Given the description of an element on the screen output the (x, y) to click on. 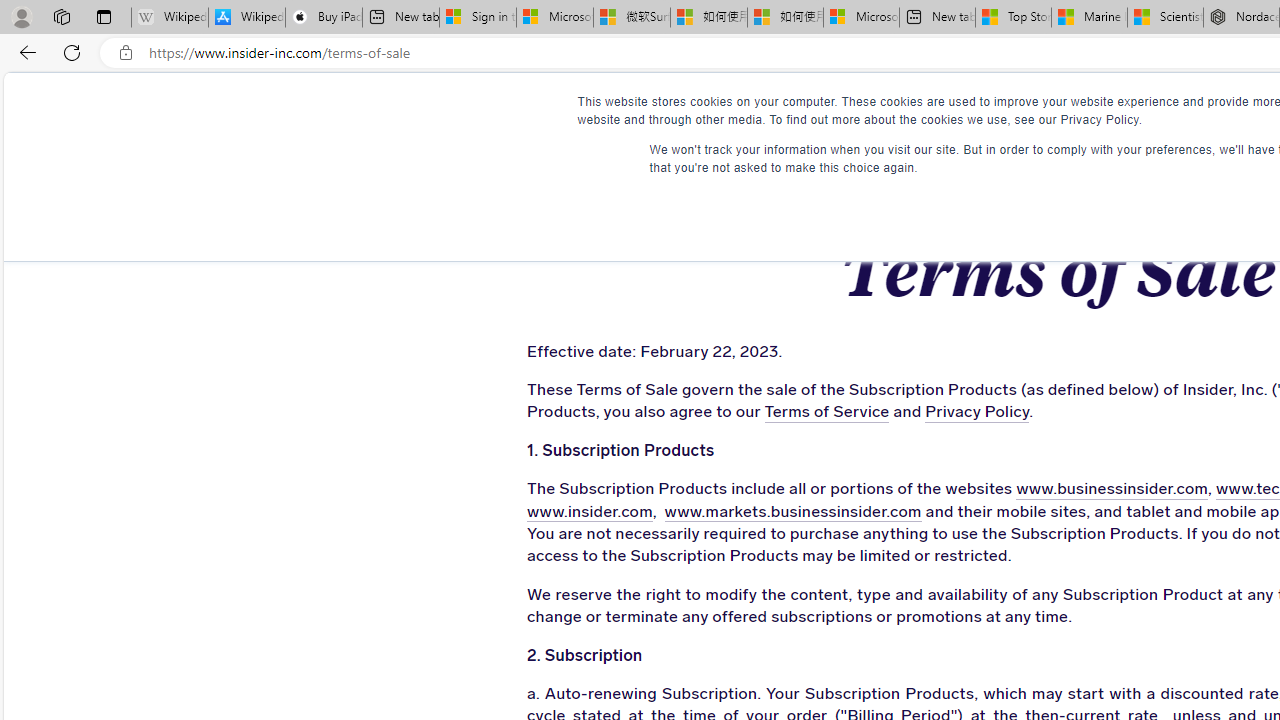
Terms of Service (826, 412)
Insider Inc. (1057, 111)
Privacy Policy (977, 412)
Marine life - MSN (1089, 17)
